Given the description of an element on the screen output the (x, y) to click on. 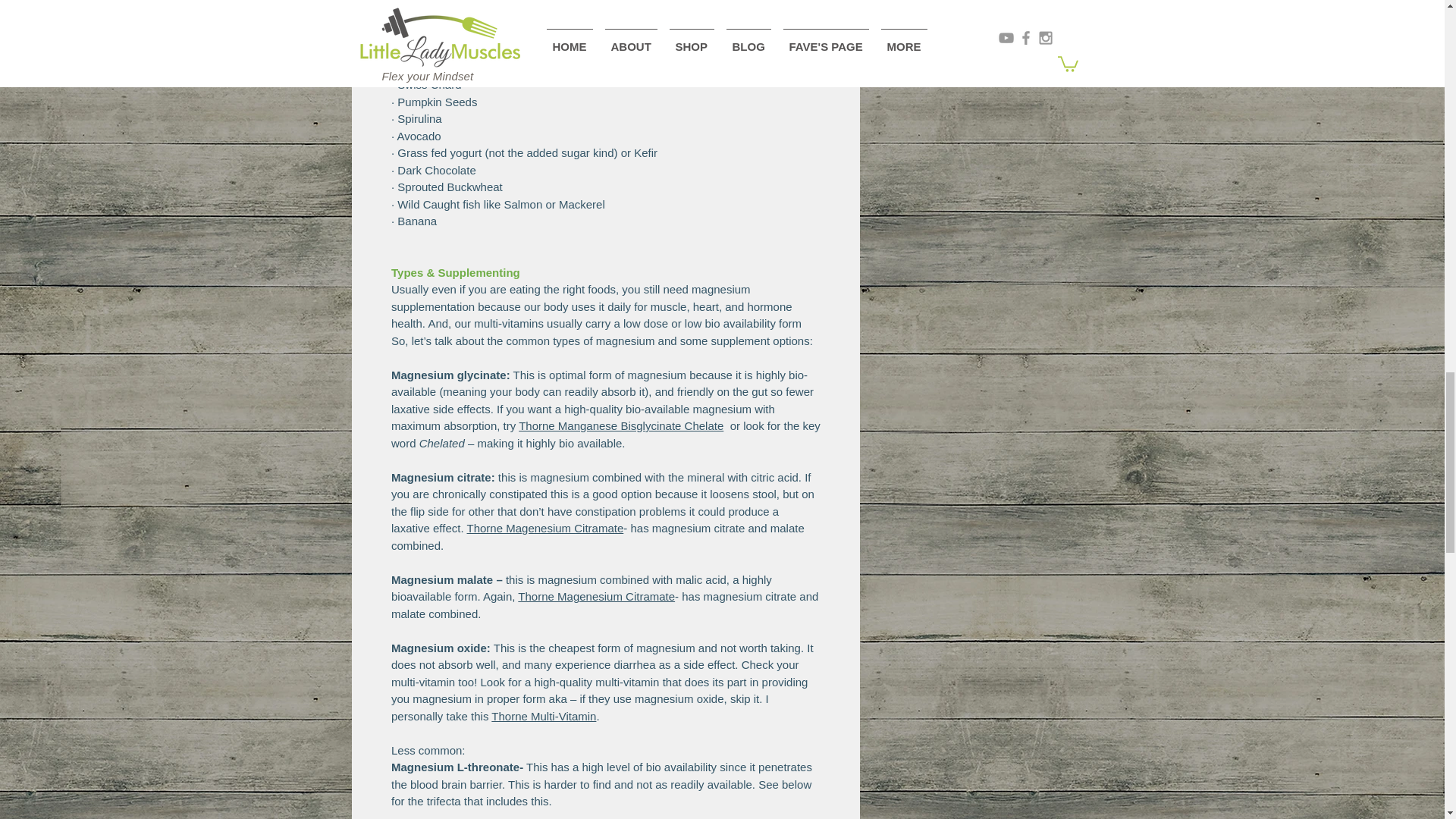
Thorne Manganese Bisglycinate Chelate (620, 425)
Thorne Magenesium Citramate (544, 527)
Thorne Multi-Vitamin (543, 715)
Thorne Magenesium Citramate (596, 595)
